Given the description of an element on the screen output the (x, y) to click on. 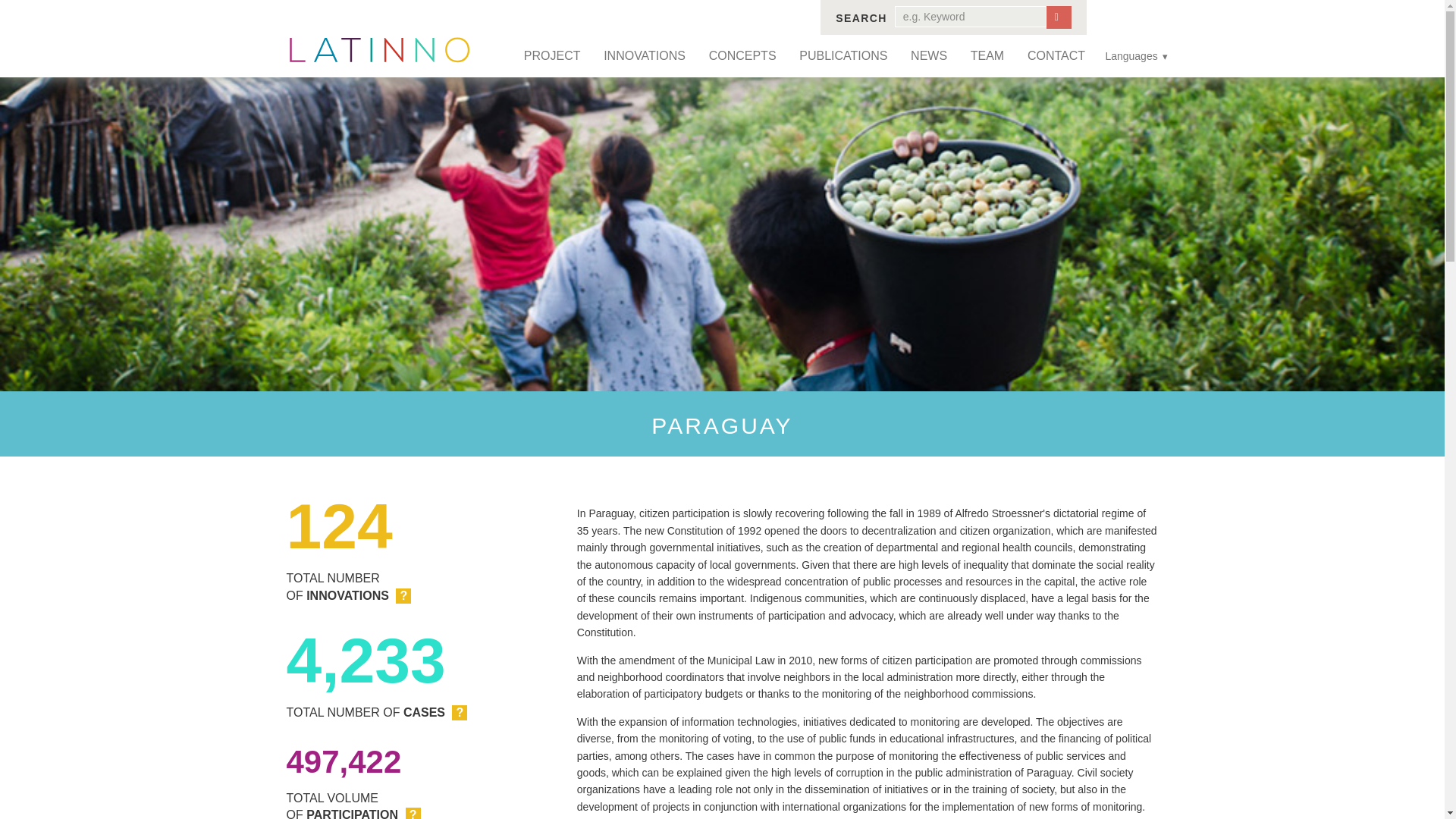
CONTACT (1055, 55)
PUBLICATIONS (843, 55)
NEWS (929, 55)
TEAM (986, 55)
INNOVATIONS (644, 55)
CONCEPTS (742, 55)
PROJECT (551, 55)
